Given the description of an element on the screen output the (x, y) to click on. 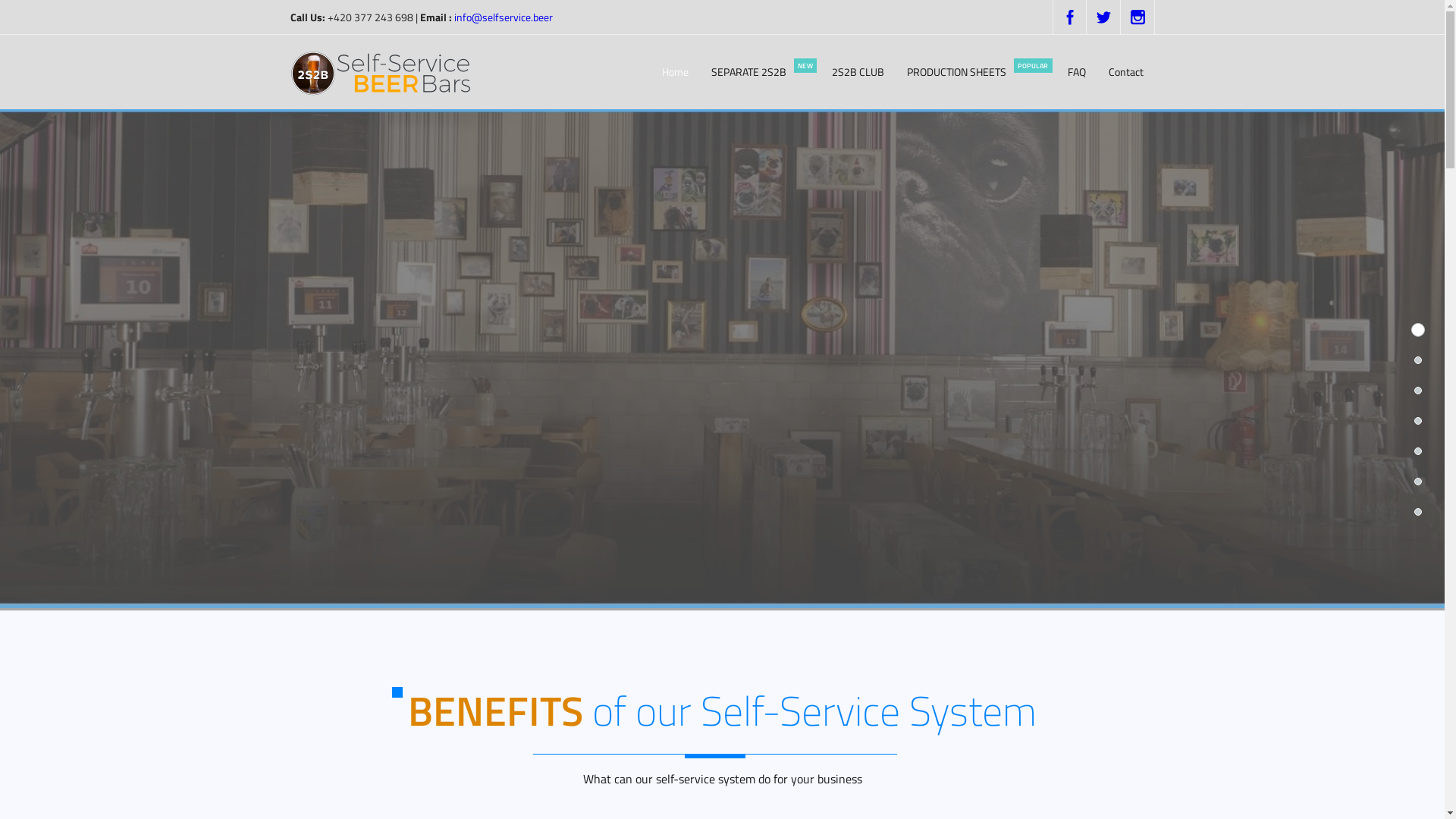
info@selfservice.beer Element type: text (502, 17)
Contact Element type: text (1125, 71)
FAQ Element type: text (1075, 71)
PRODUCTION SHEETSPOPULAR Element type: text (975, 71)
2S2B CLUB Element type: text (857, 71)
SEPARATE 2S2BNEW Element type: text (759, 71)
Self Service Beer Bars Element type: hover (384, 71)
Home Element type: text (674, 71)
